Given the description of an element on the screen output the (x, y) to click on. 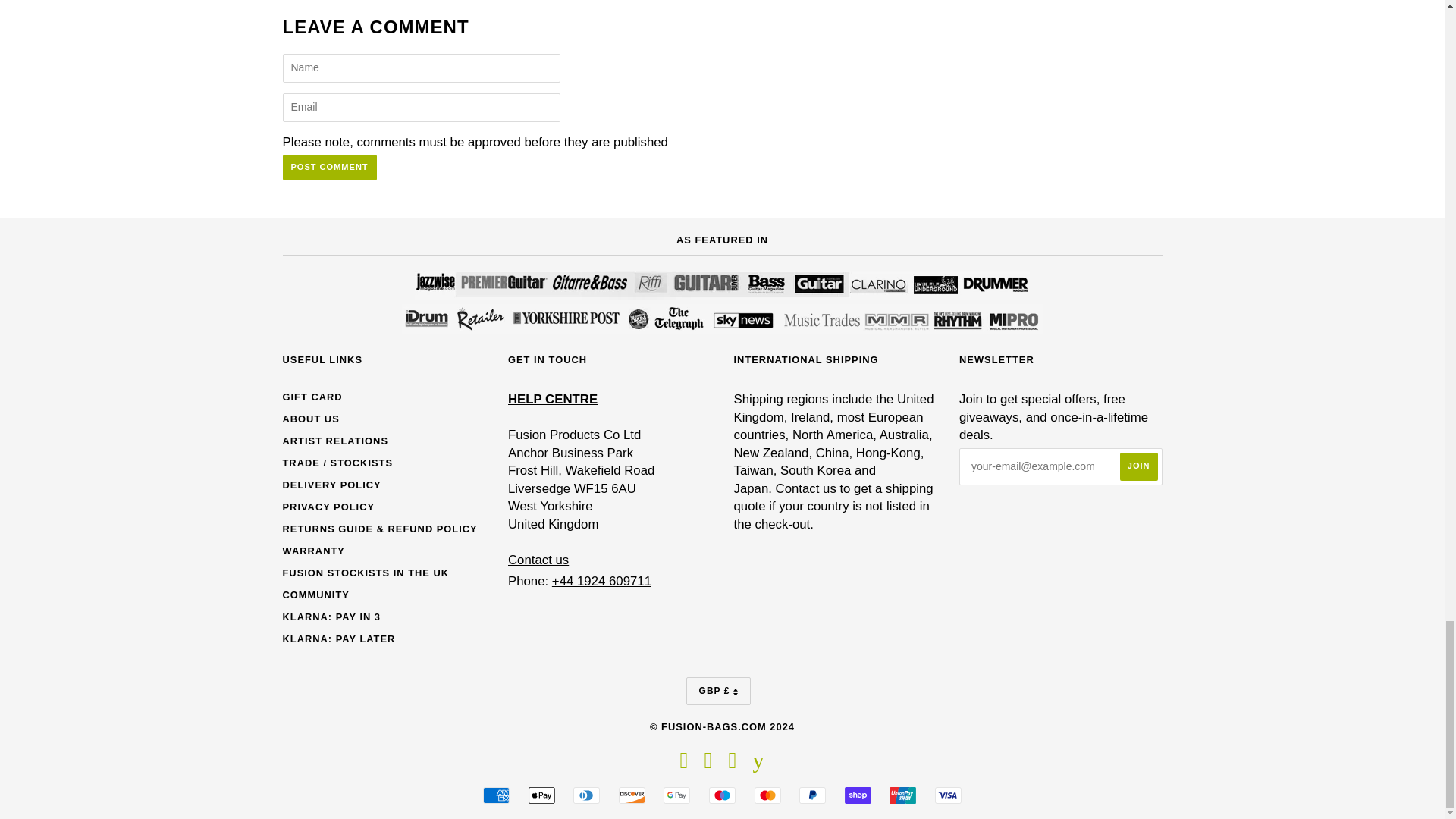
UNION PAY (902, 795)
SHOP PAY (857, 795)
PAYPAL (812, 795)
DINERS CLUB (586, 795)
MAESTRO (722, 795)
Join (1138, 466)
DISCOVER (631, 795)
GOOGLE PAY (676, 795)
Fusion-Bags.com on Youtube (758, 764)
Post comment (328, 167)
Help Centre (552, 399)
Customer Service (538, 559)
APPLE PAY (541, 795)
VISA (947, 795)
MASTERCARD (767, 795)
